Given the description of an element on the screen output the (x, y) to click on. 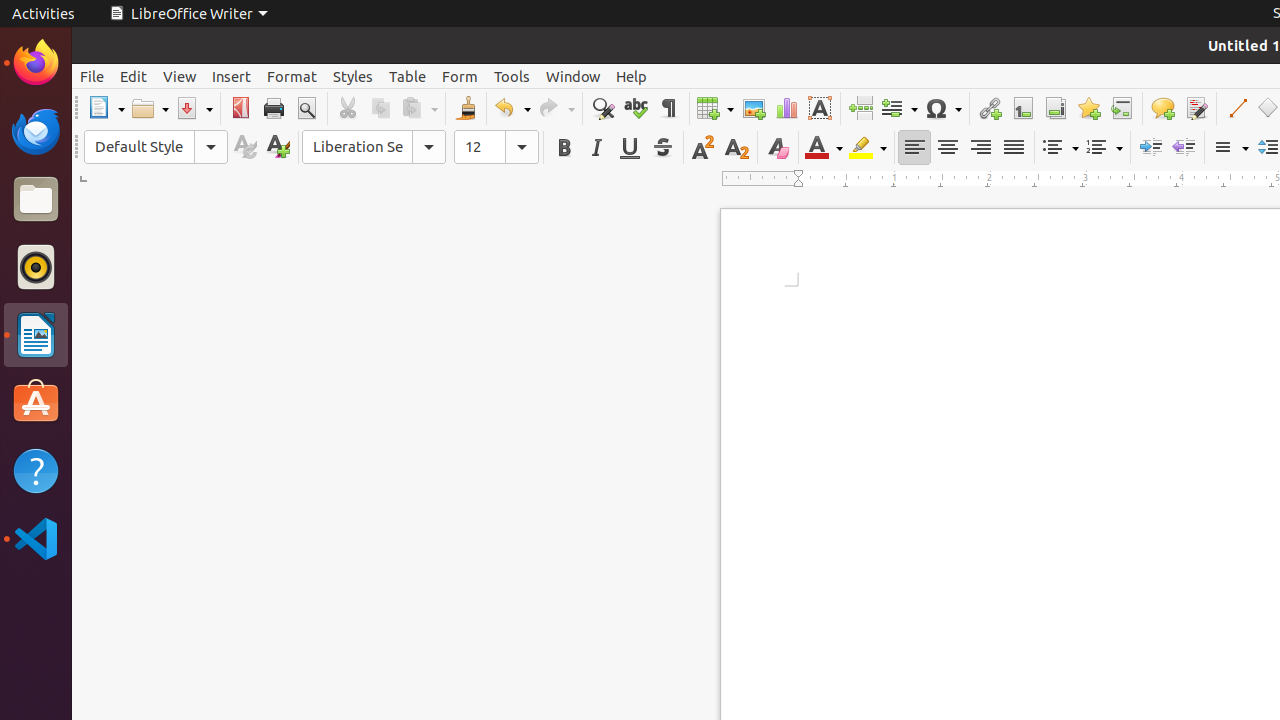
Track Changes Functions Element type: toggle-button (1195, 108)
Redo Element type: push-button (556, 108)
Field Element type: push-button (899, 108)
Form Element type: menu (460, 76)
Visual Studio Code Element type: push-button (36, 538)
